Given the description of an element on the screen output the (x, y) to click on. 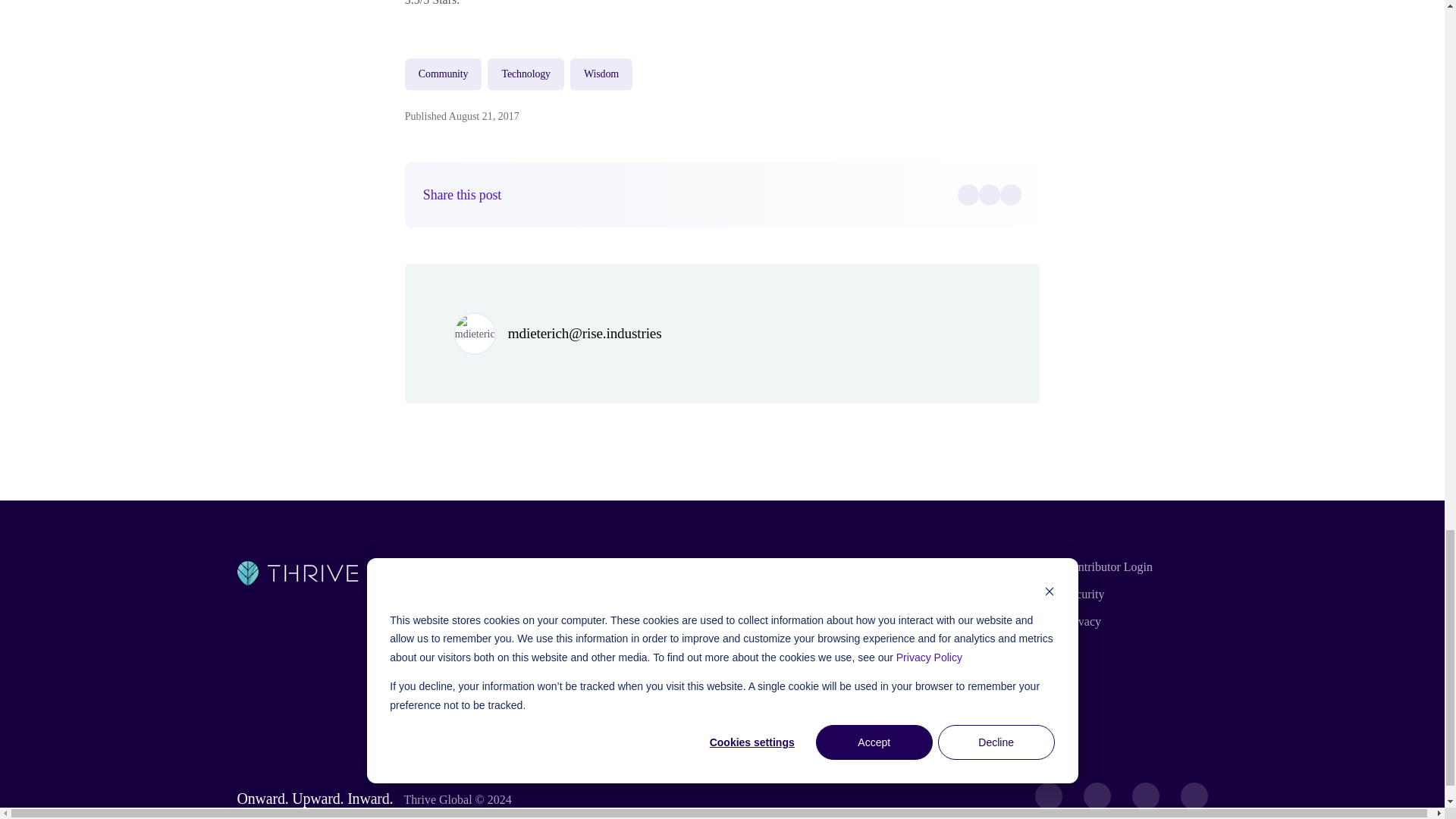
Twitter (989, 194)
LinkedIn (1011, 194)
Facebook (968, 194)
